Given the description of an element on the screen output the (x, y) to click on. 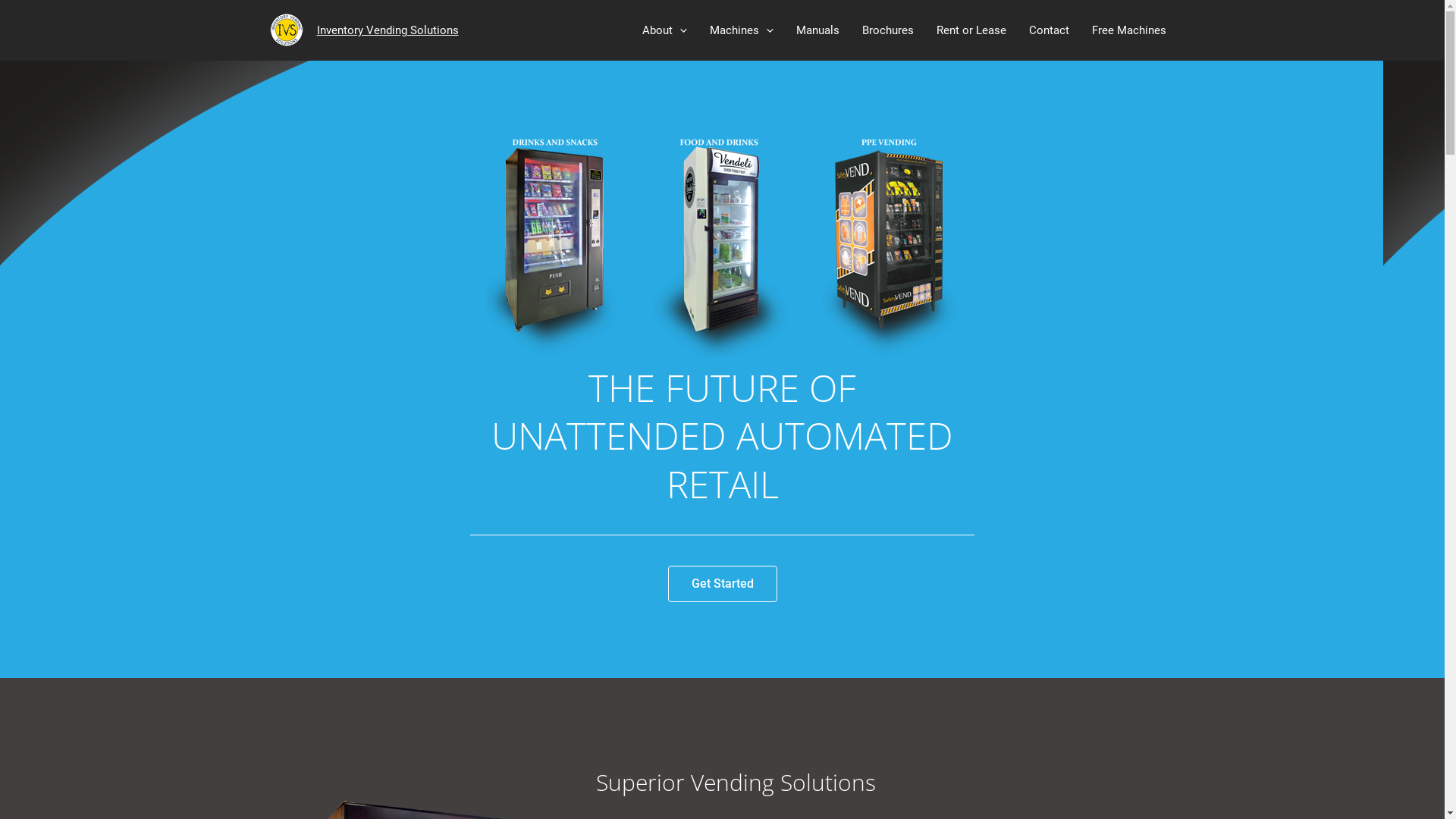
Get Started Element type: text (721, 583)
Contact Element type: text (1048, 29)
Brochures Element type: text (887, 29)
Machines Element type: text (740, 29)
Rent or Lease Element type: text (971, 29)
Inventory Vending Solutions Element type: text (387, 30)
Manuals Element type: text (817, 29)
About Element type: text (664, 29)
Free Machines Element type: text (1127, 29)
